Given the description of an element on the screen output the (x, y) to click on. 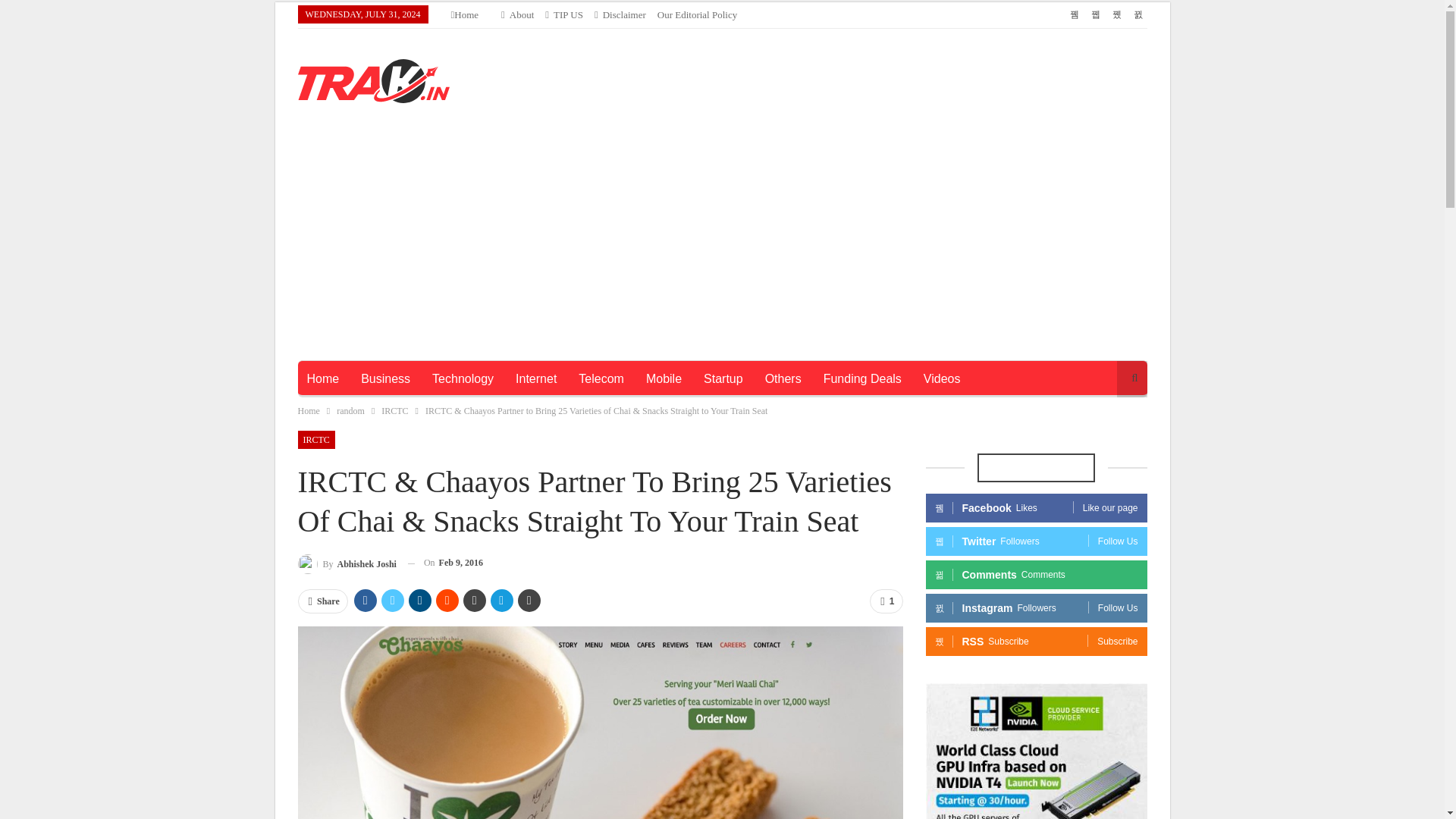
Home (322, 379)
Telecom (601, 379)
Business (385, 379)
Mobile (663, 379)
Disclaimer (620, 14)
Internet (536, 379)
IRCTC (394, 410)
Technology (462, 379)
Videos (941, 379)
Funding Deals (862, 379)
